Given the description of an element on the screen output the (x, y) to click on. 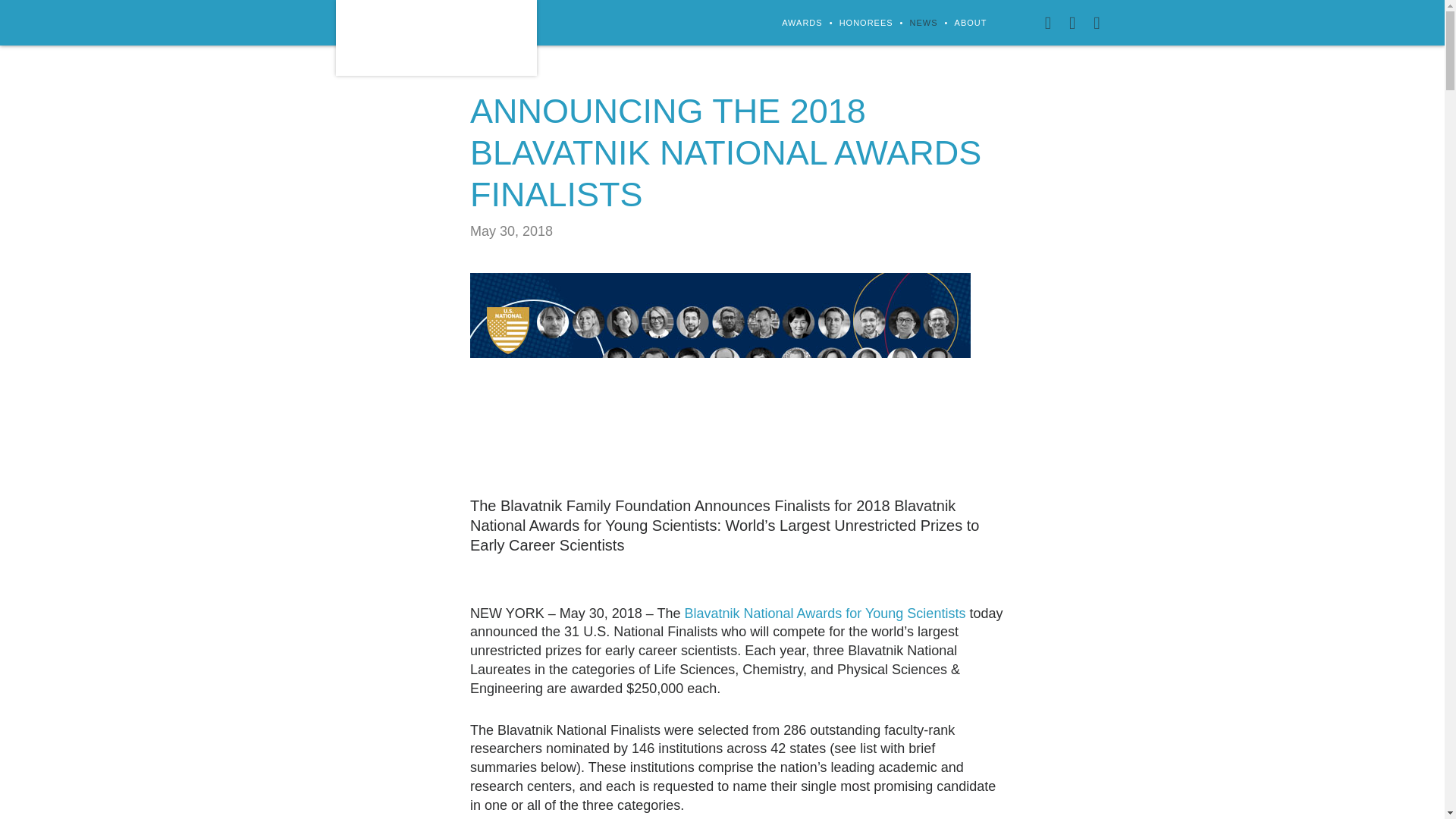
Blavatnik Awards for Young Scientists (434, 38)
Blavatnik National Awards for Young Scientists (824, 612)
AWARDS (801, 22)
HONOREES (866, 22)
NEWS (923, 22)
ABOUT (970, 22)
